Given the description of an element on the screen output the (x, y) to click on. 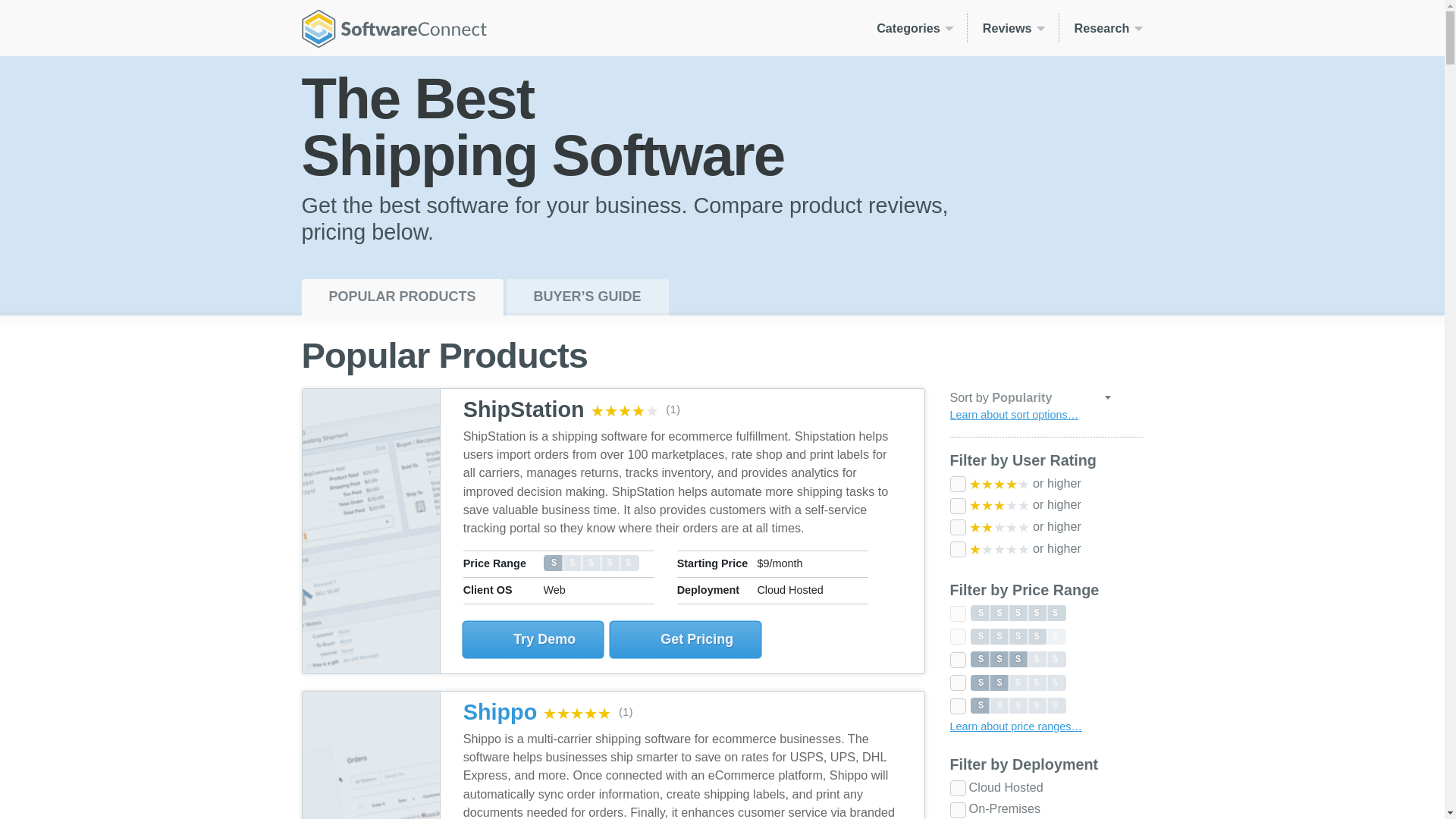
5 (957, 613)
3 (957, 659)
2 (957, 682)
4 (957, 636)
Categories (914, 27)
Research (1100, 27)
1 (957, 549)
1 (957, 706)
3 (957, 505)
onPremises (957, 810)
2 (957, 527)
Reviews (1013, 27)
cloud (957, 788)
4 (957, 483)
